Given the description of an element on the screen output the (x, y) to click on. 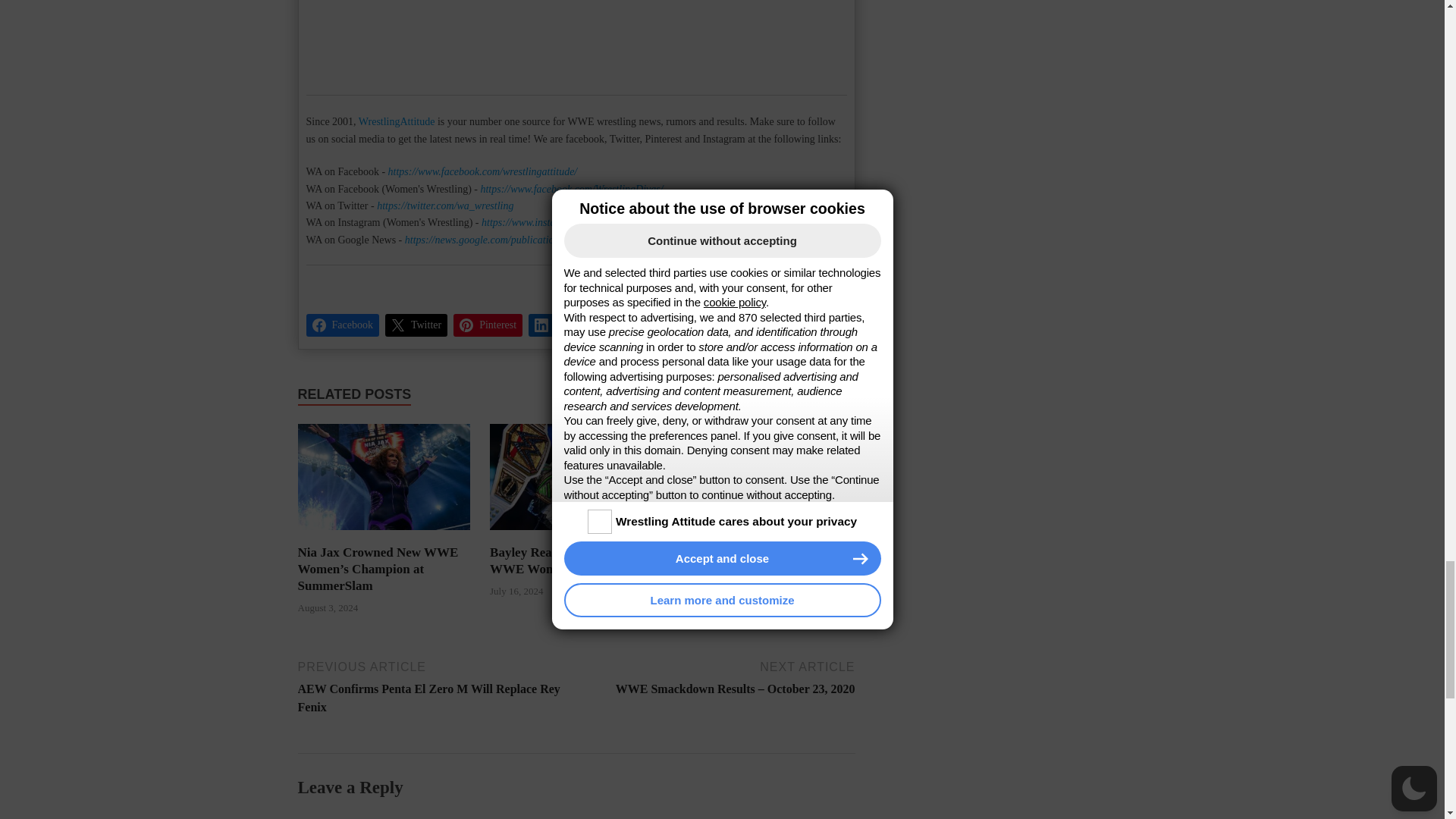
Piper Niven Praises Bayley (755, 431)
Piper Niven Praises Bayley (756, 458)
Piper Niven Praises Bayley (755, 433)
